Given the description of an element on the screen output the (x, y) to click on. 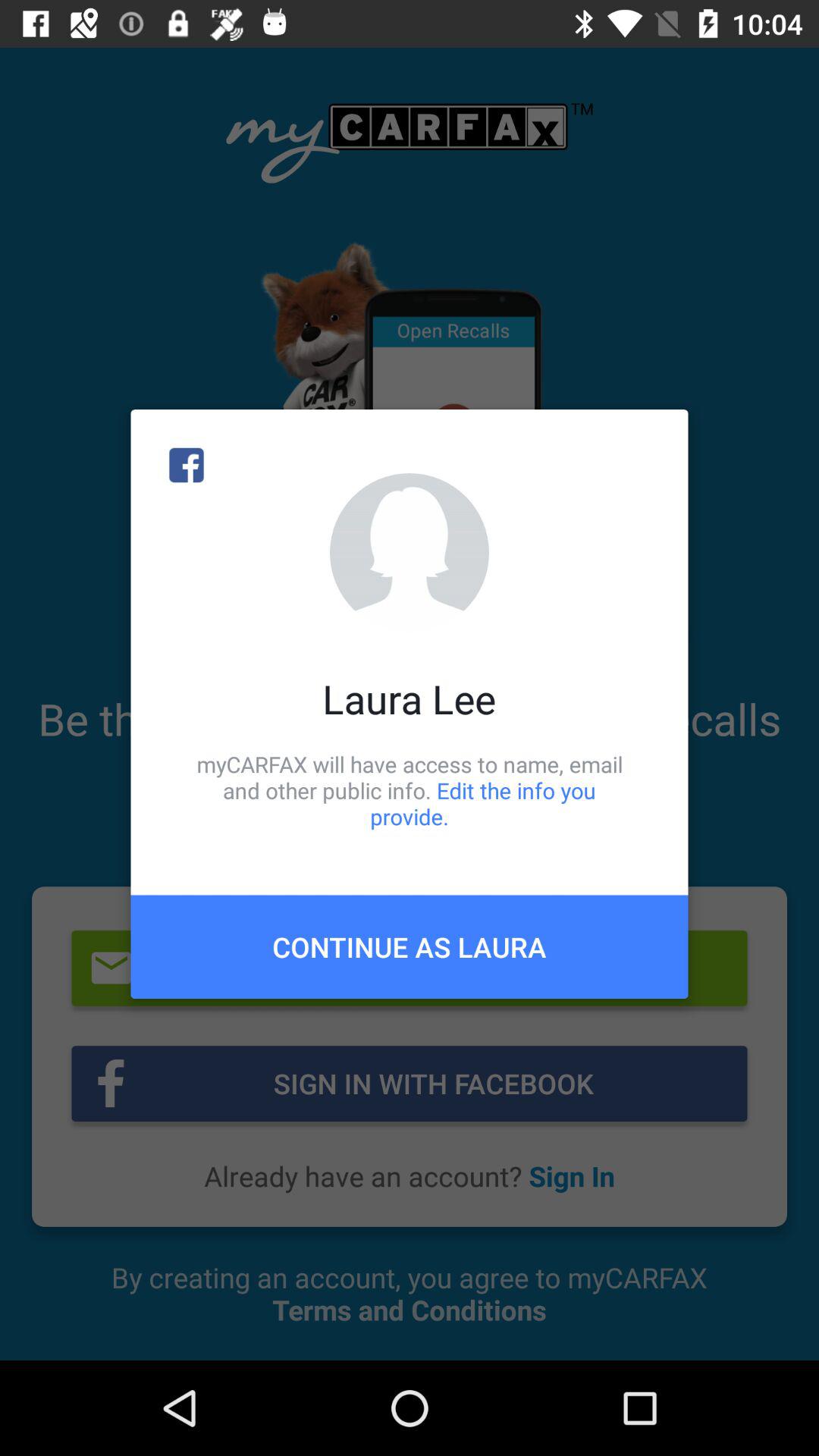
turn off the icon below laura lee (409, 790)
